Given the description of an element on the screen output the (x, y) to click on. 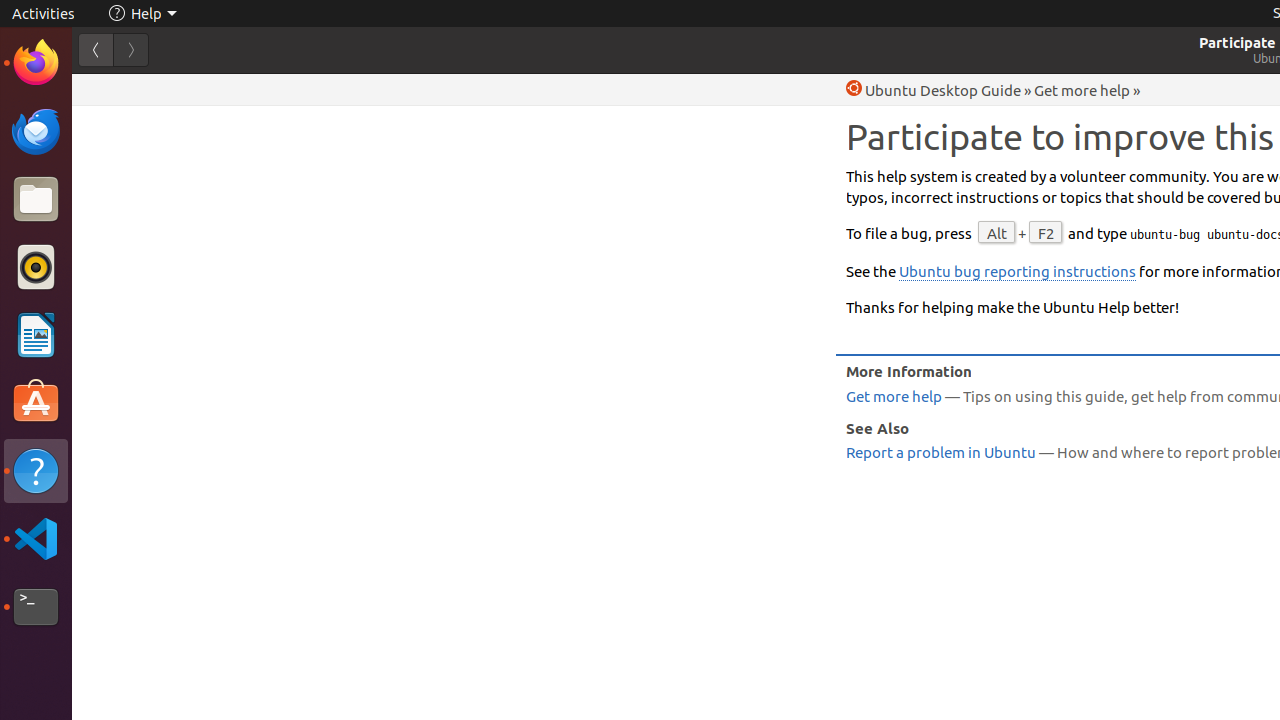
Firefox Web Browser Element type: push-button (36, 63)
IsaHelpMain.desktop Element type: label (133, 300)
